Given the description of an element on the screen output the (x, y) to click on. 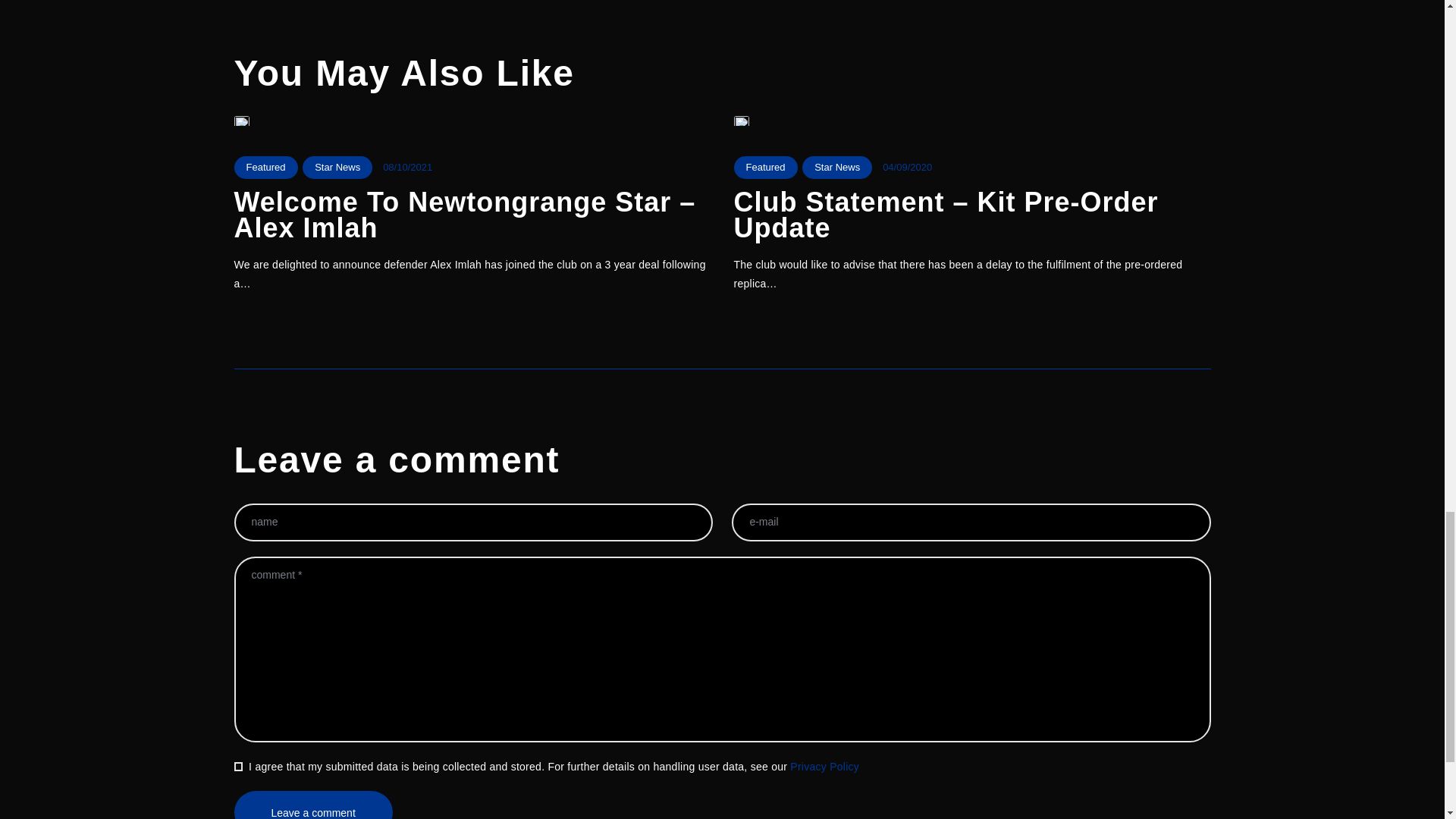
Leave a comment (311, 805)
